Given the description of an element on the screen output the (x, y) to click on. 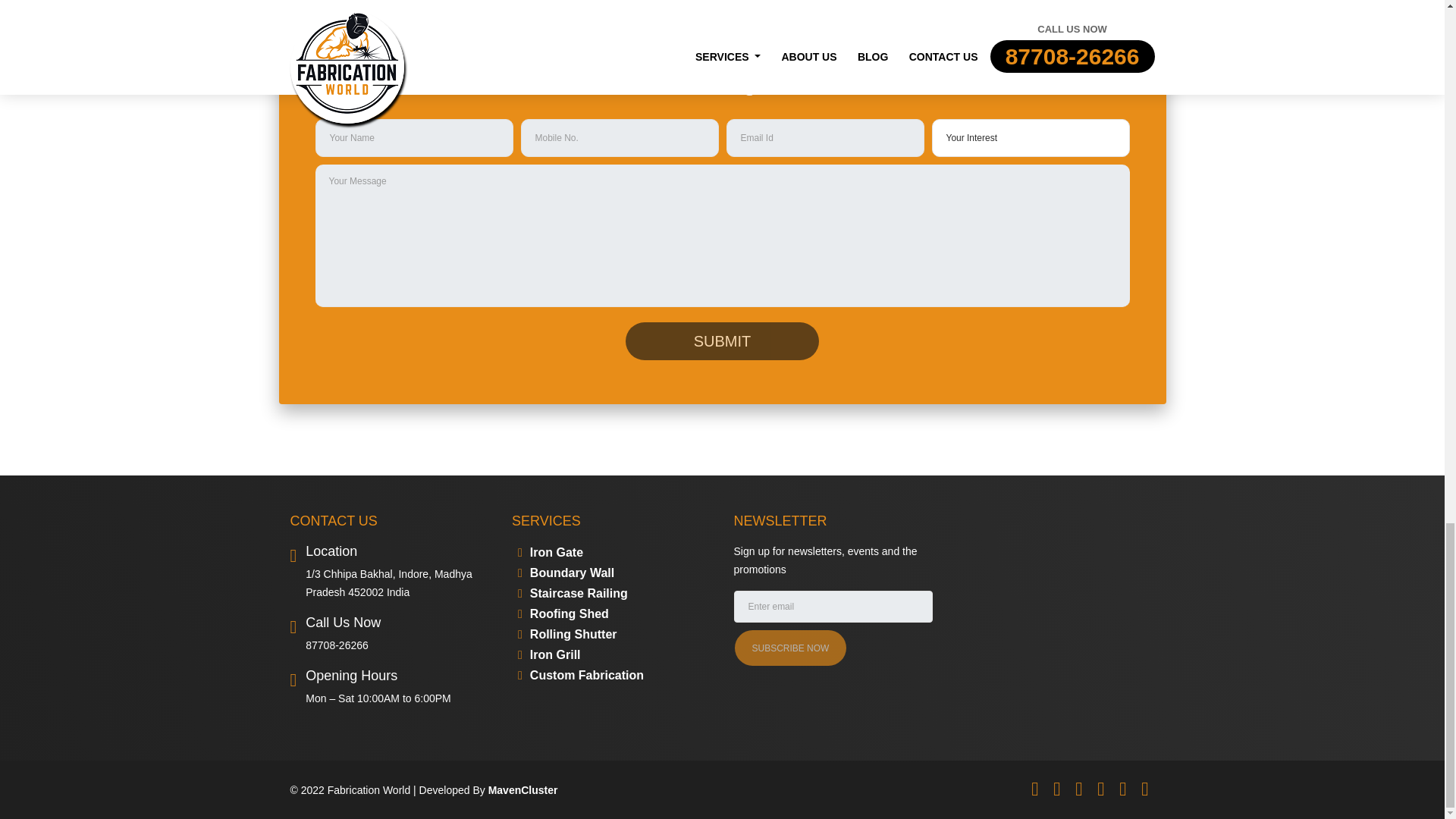
Boundary Wall (566, 572)
Rolling Shutter (567, 634)
MavenCluster (522, 789)
Custom Fabrication (580, 674)
Staircase Railing (572, 593)
SUBMIT (722, 341)
Subscribe Now (789, 647)
Subscribe Now (789, 647)
Roofing Shed (563, 613)
Iron Grill (549, 654)
